Given the description of an element on the screen output the (x, y) to click on. 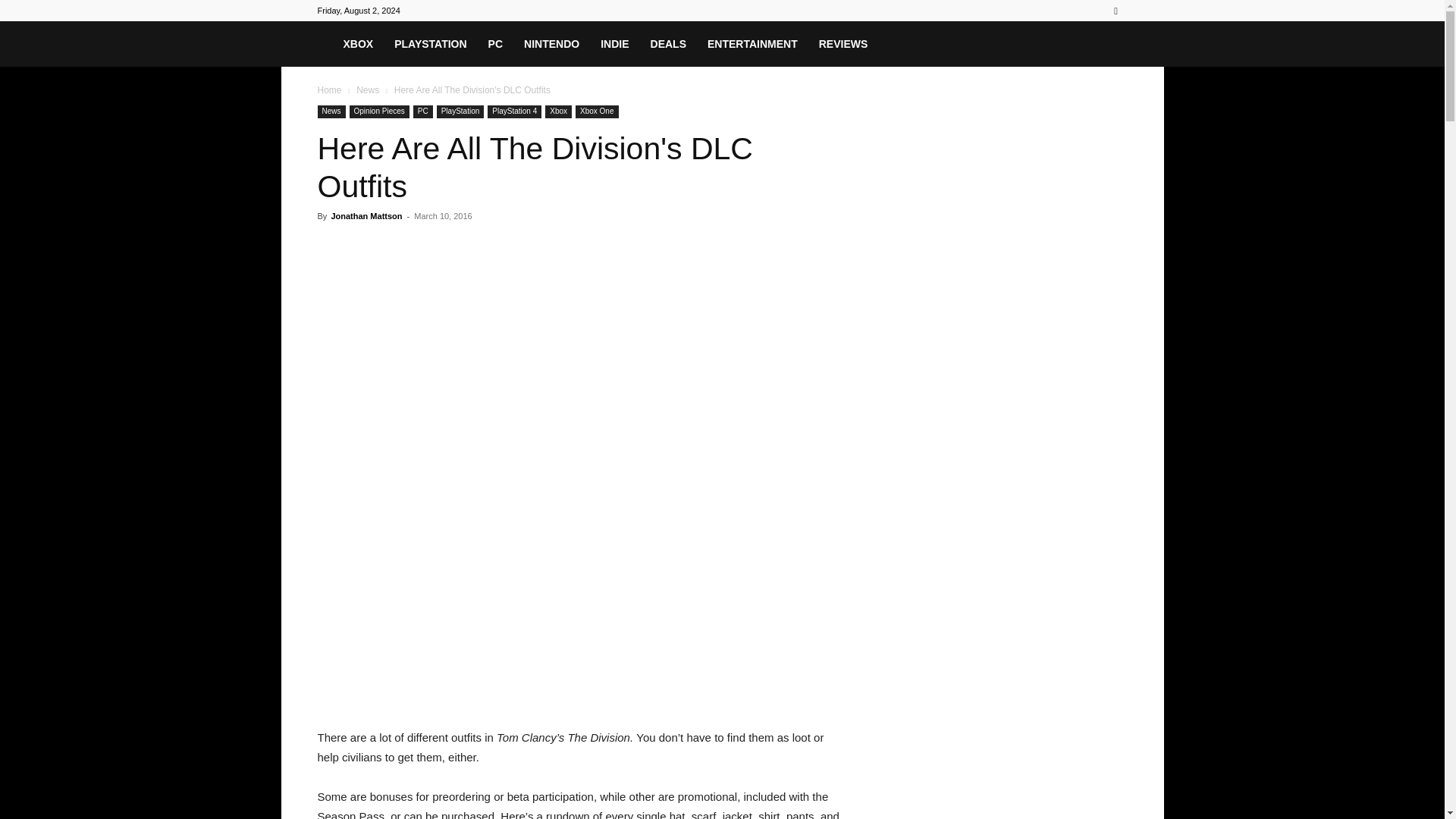
PLAYSTATION (430, 43)
XBOX (357, 43)
Search (1085, 64)
Real Game Media (324, 43)
